Given the description of an element on the screen output the (x, y) to click on. 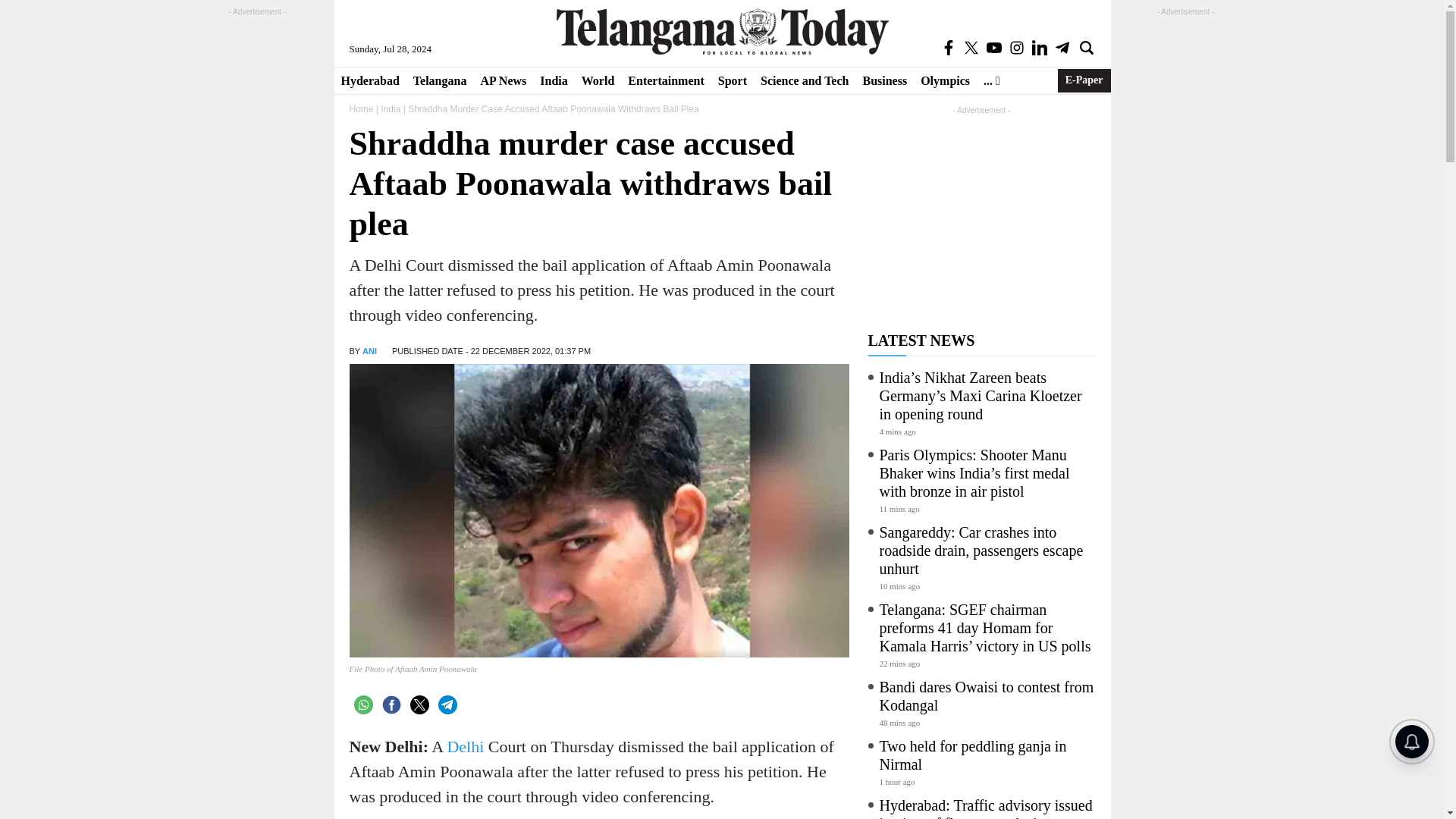
Hyderabad (369, 80)
Science and Tech (805, 80)
English News (722, 31)
India (390, 109)
Telangana (440, 80)
E-Paper (1084, 80)
Telangana (440, 80)
Business (885, 80)
World (598, 80)
Sport (732, 80)
... (991, 80)
Science and Tech (805, 80)
... (991, 80)
AP News (502, 80)
Olympics (945, 80)
